Given the description of an element on the screen output the (x, y) to click on. 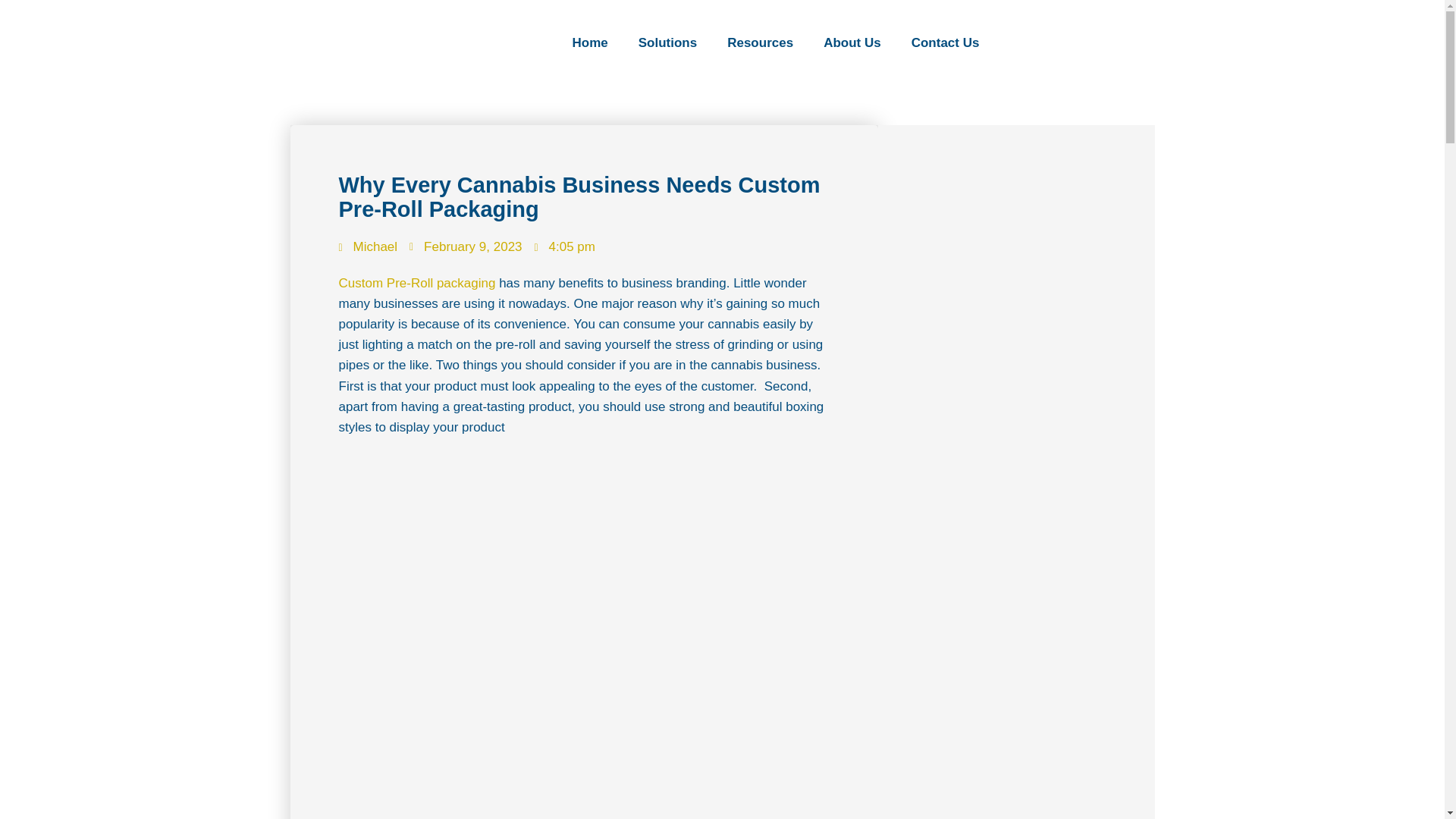
Custom Pre-Roll packaging (416, 283)
Home (589, 42)
About Us (852, 42)
Michael (367, 246)
Contact Us (945, 42)
Resources (759, 42)
MY packaging China-Logo (366, 43)
Solutions (667, 42)
February 9, 2023 (465, 246)
